Given the description of an element on the screen output the (x, y) to click on. 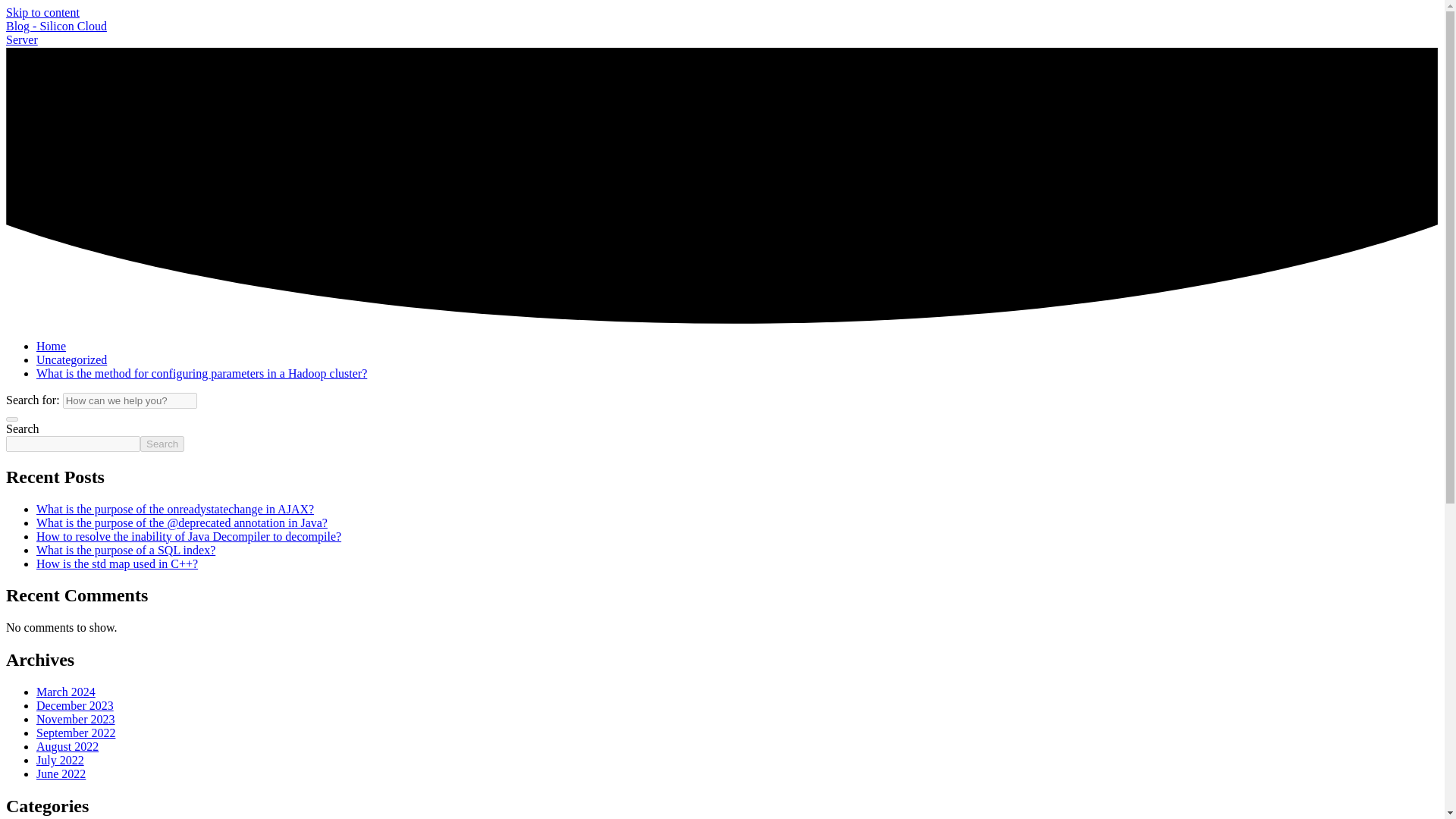
December 2023 (74, 705)
Uncategorized (71, 359)
March 2024 (66, 691)
Blog - Silicon Cloud (55, 25)
What is the purpose of the onreadystatechange in AJAX? (175, 508)
July 2022 (60, 759)
Server (21, 39)
Home (50, 345)
